Given the description of an element on the screen output the (x, y) to click on. 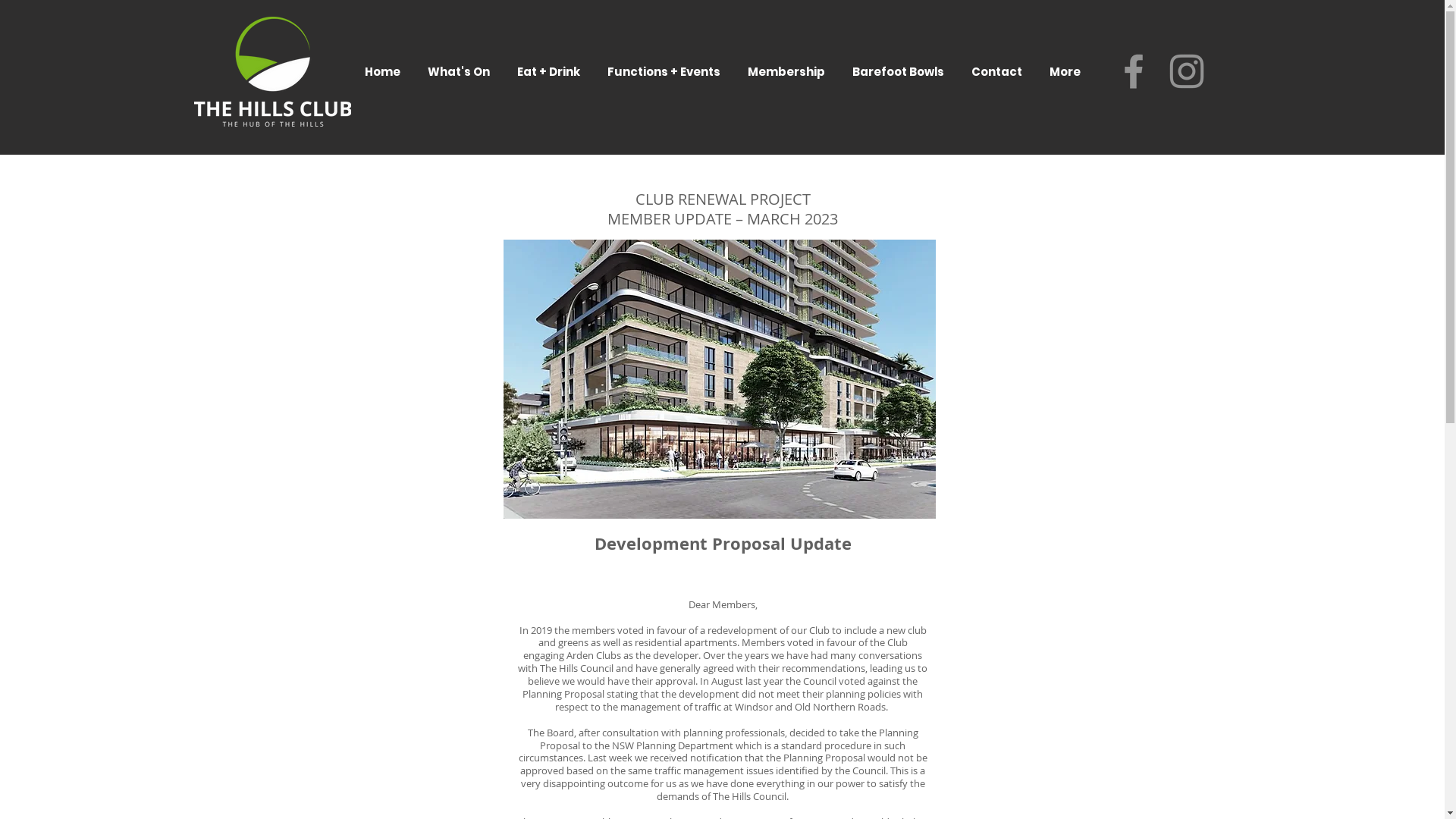
Home Element type: text (381, 71)
Barefoot Bowls Element type: text (897, 71)
Eat + Drink Element type: text (548, 71)
Contact Element type: text (996, 71)
